Given the description of an element on the screen output the (x, y) to click on. 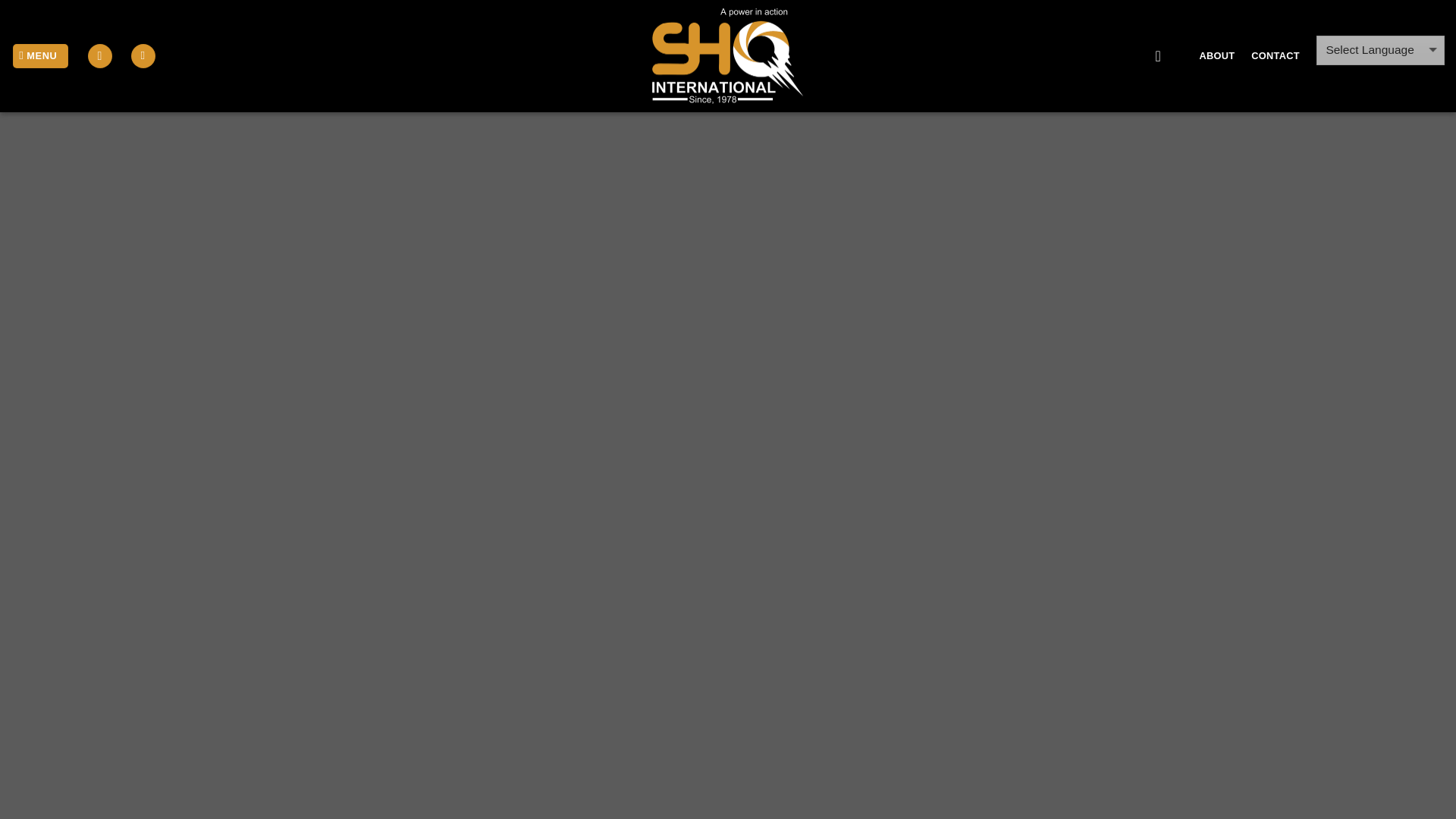
ABOUT (1216, 55)
Sign up for Newsletter (143, 56)
CONTACT (1274, 55)
MENU (40, 56)
SHQ International -  (727, 56)
